Given the description of an element on the screen output the (x, y) to click on. 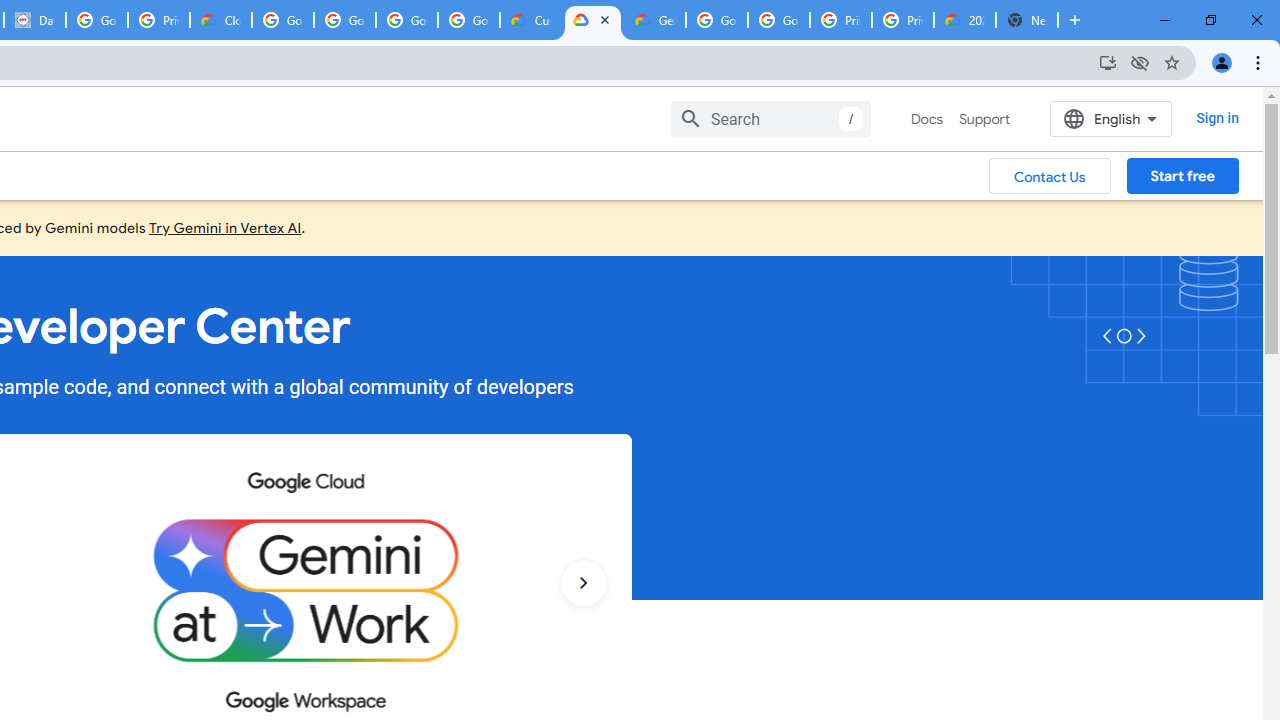
Google Cloud Platform (716, 20)
Google Workspace - Specific Terms (468, 20)
Customer Care | Google Cloud (530, 20)
English (1110, 118)
Gemini for Business and Developers | Google Cloud (654, 20)
Support (984, 119)
Cloud Data Processing Addendum | Google Cloud (220, 20)
Google Cloud Platform (778, 20)
New Tab (1026, 20)
